Given the description of an element on the screen output the (x, y) to click on. 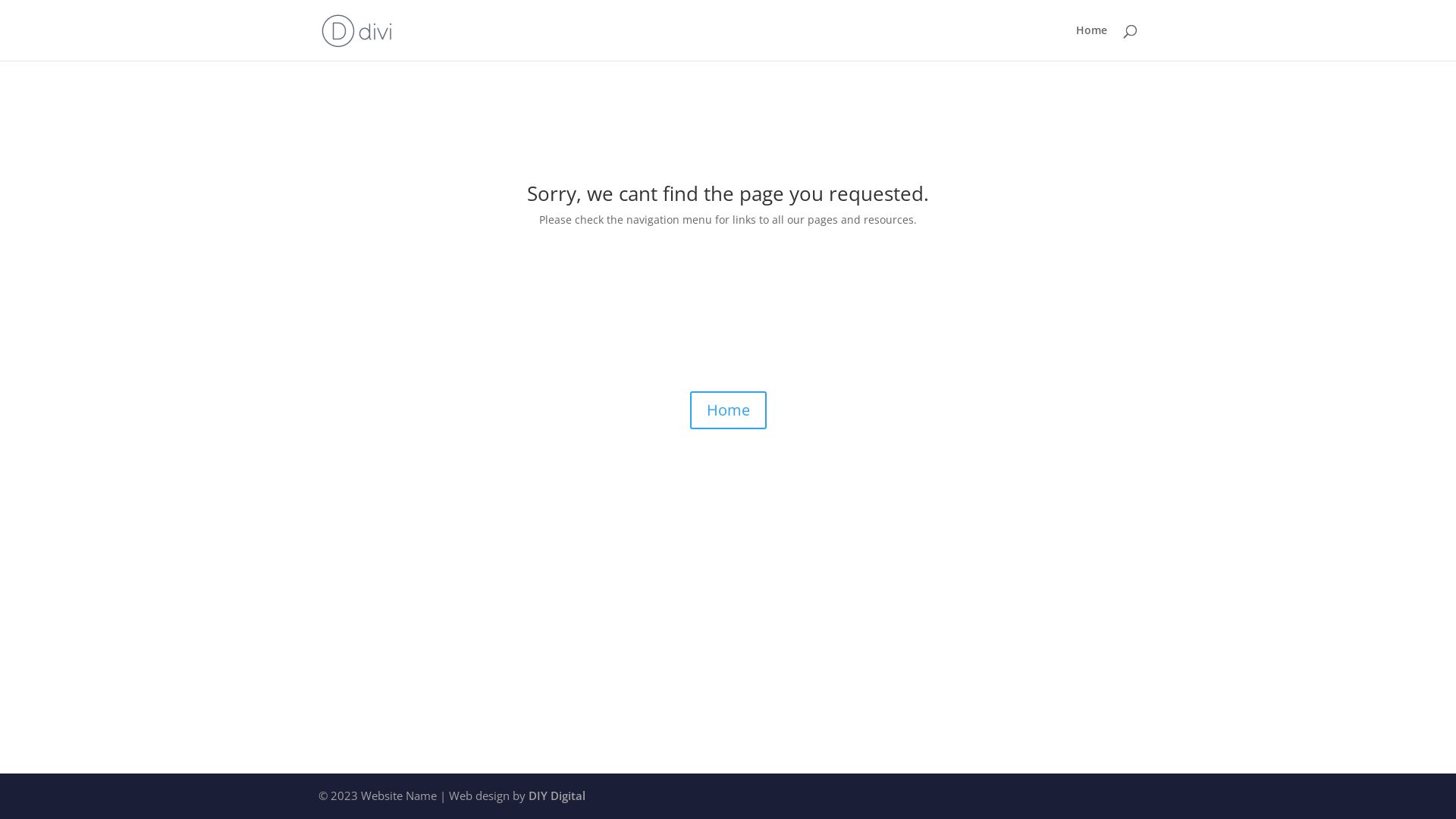
DIY Digital Element type: text (556, 795)
Home Element type: text (1091, 42)
Home Element type: text (728, 410)
